Given the description of an element on the screen output the (x, y) to click on. 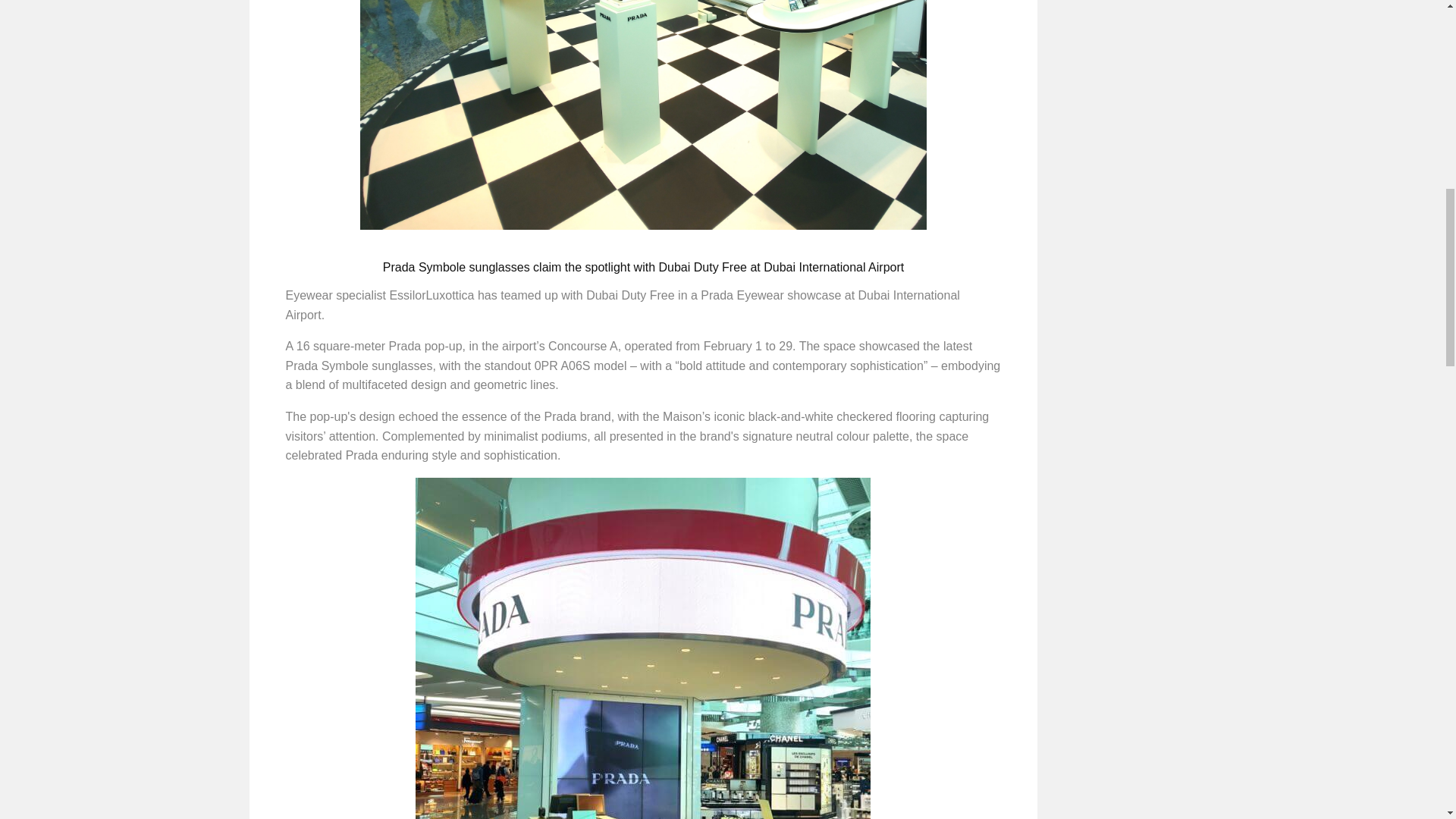
3rd party ad content (1128, 65)
